Given the description of an element on the screen output the (x, y) to click on. 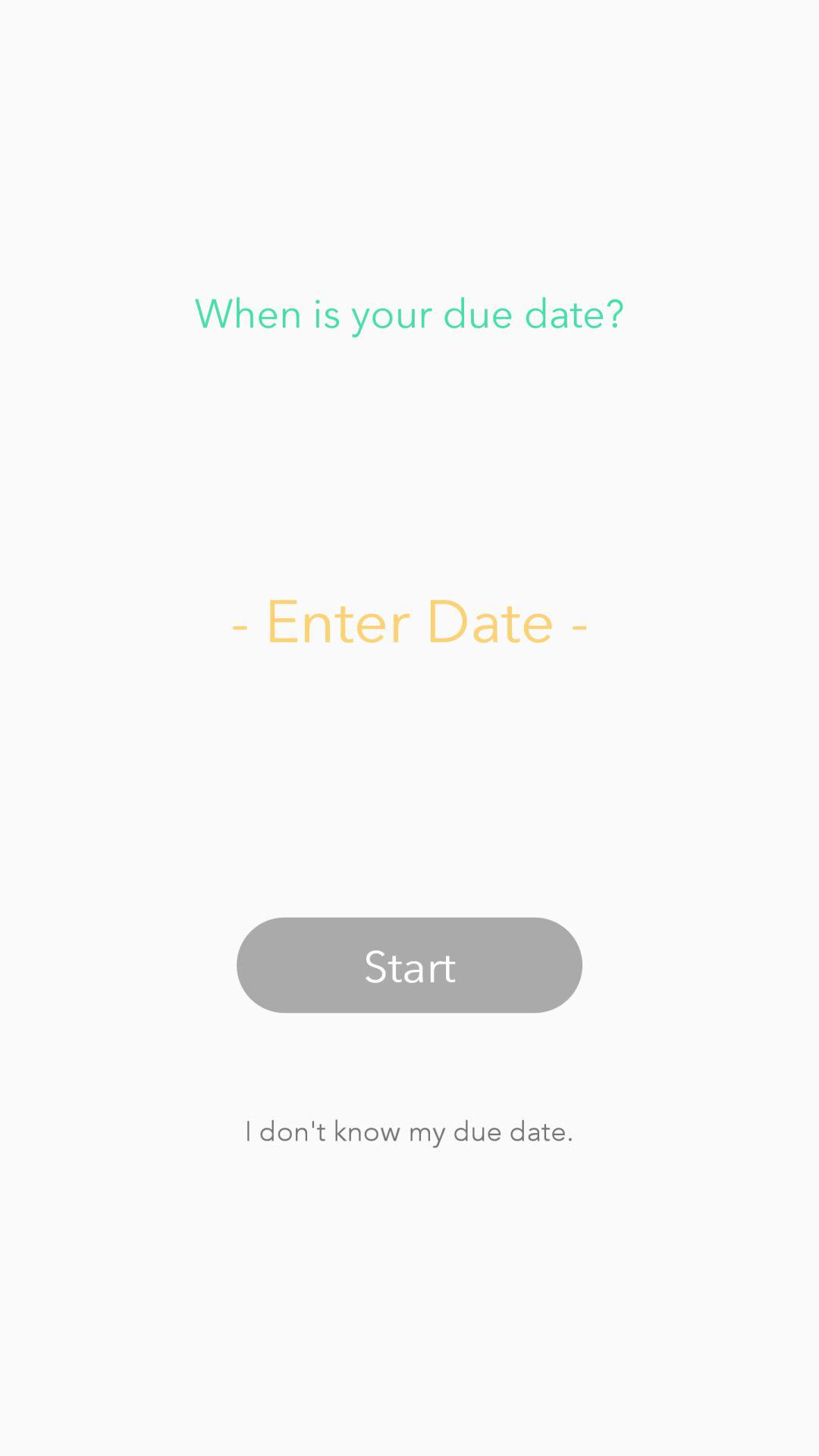
open start (409, 964)
